Given the description of an element on the screen output the (x, y) to click on. 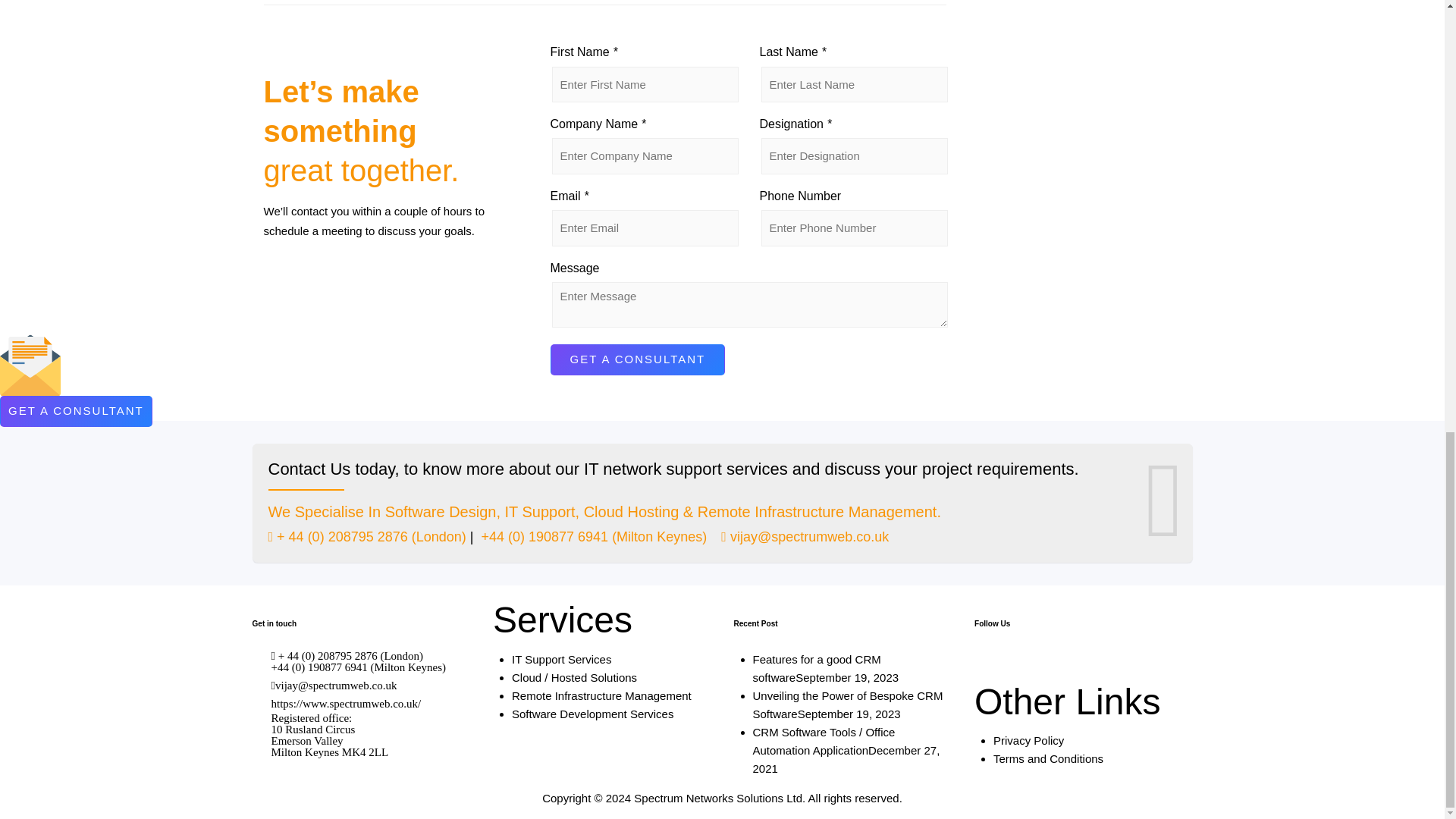
Twitter (987, 665)
Get A Consultant (637, 359)
Facebook (1043, 665)
Get A Consultant (637, 359)
YouTube (1015, 665)
LinkedIn (1071, 665)
